Given the description of an element on the screen output the (x, y) to click on. 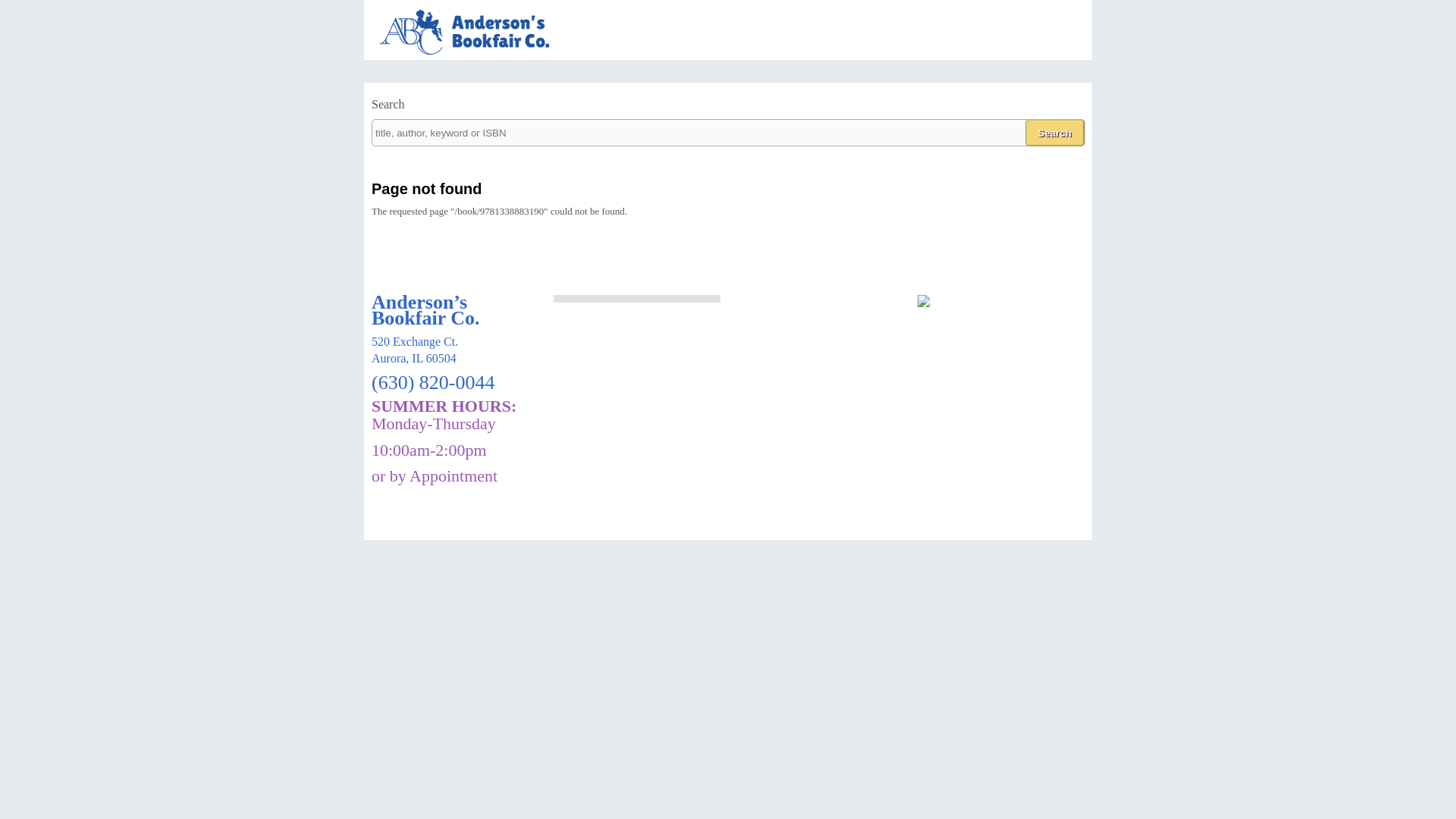
Search (1054, 132)
Search (1054, 132)
Enter the terms you wish to search for. (727, 132)
Home (473, 52)
